Given the description of an element on the screen output the (x, y) to click on. 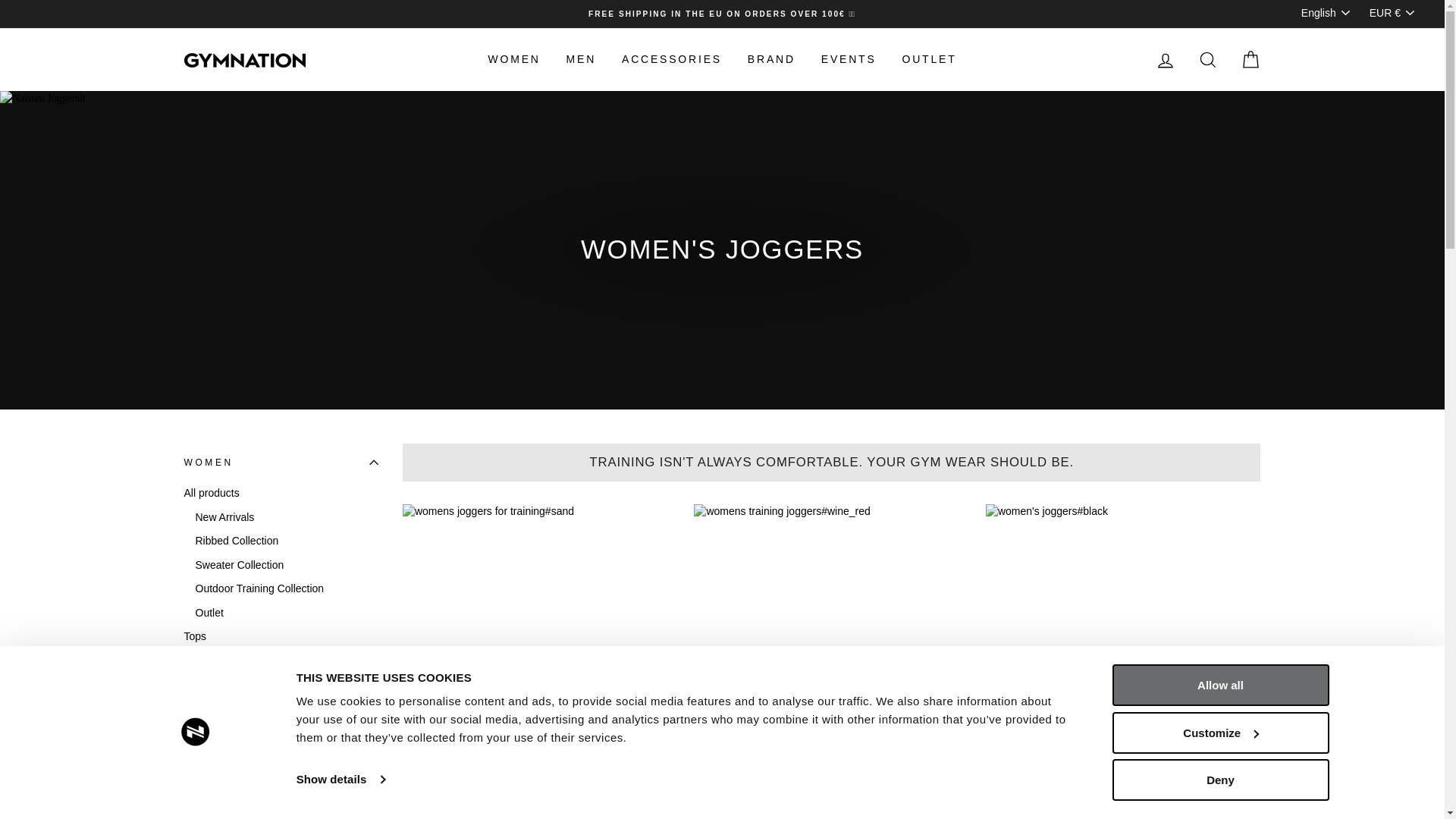
Show details (340, 779)
